Given the description of an element on the screen output the (x, y) to click on. 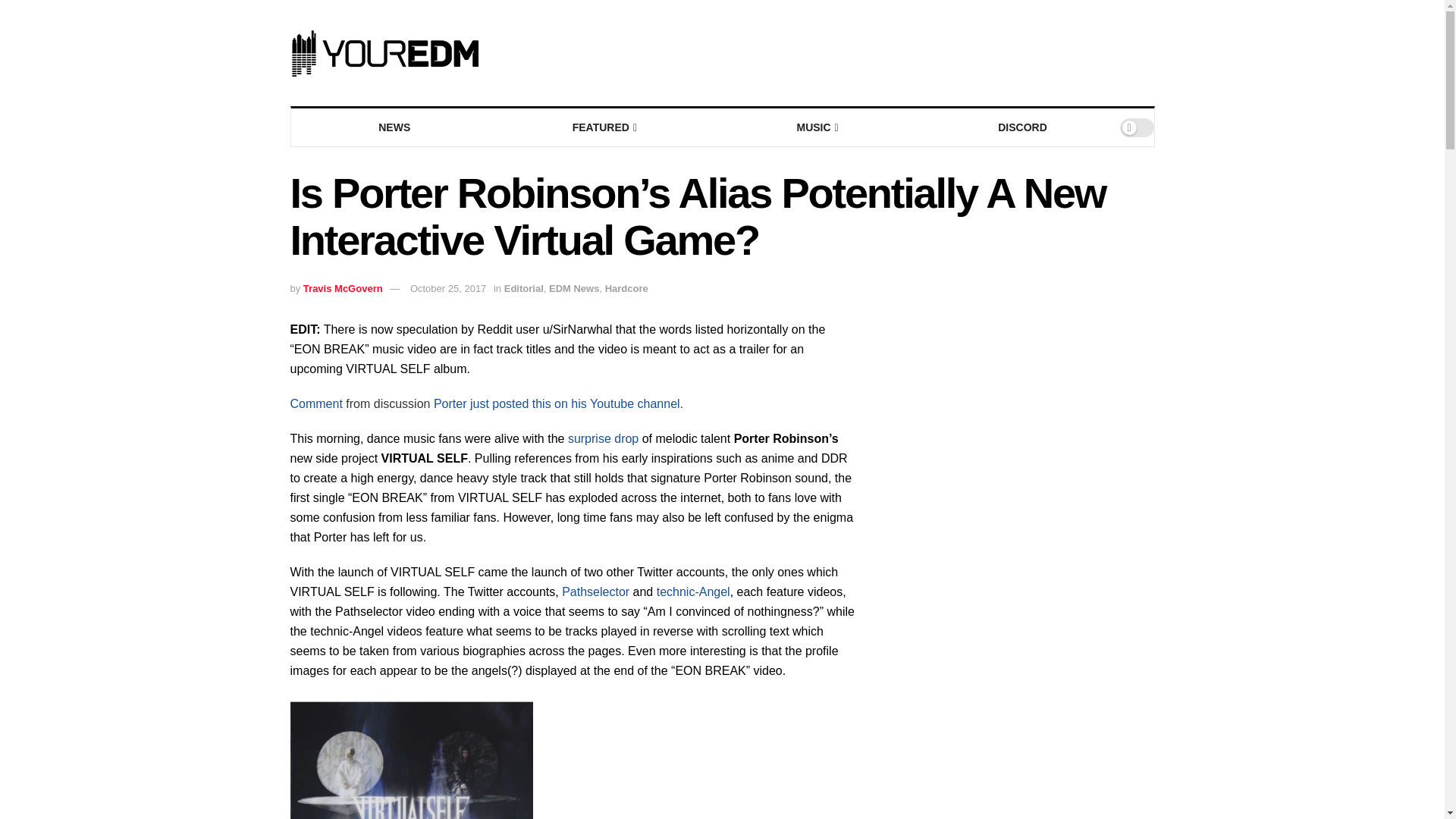
NEWS (394, 127)
DISCORD (1021, 127)
MUSIC (815, 127)
FEATURED (603, 127)
